Given the description of an element on the screen output the (x, y) to click on. 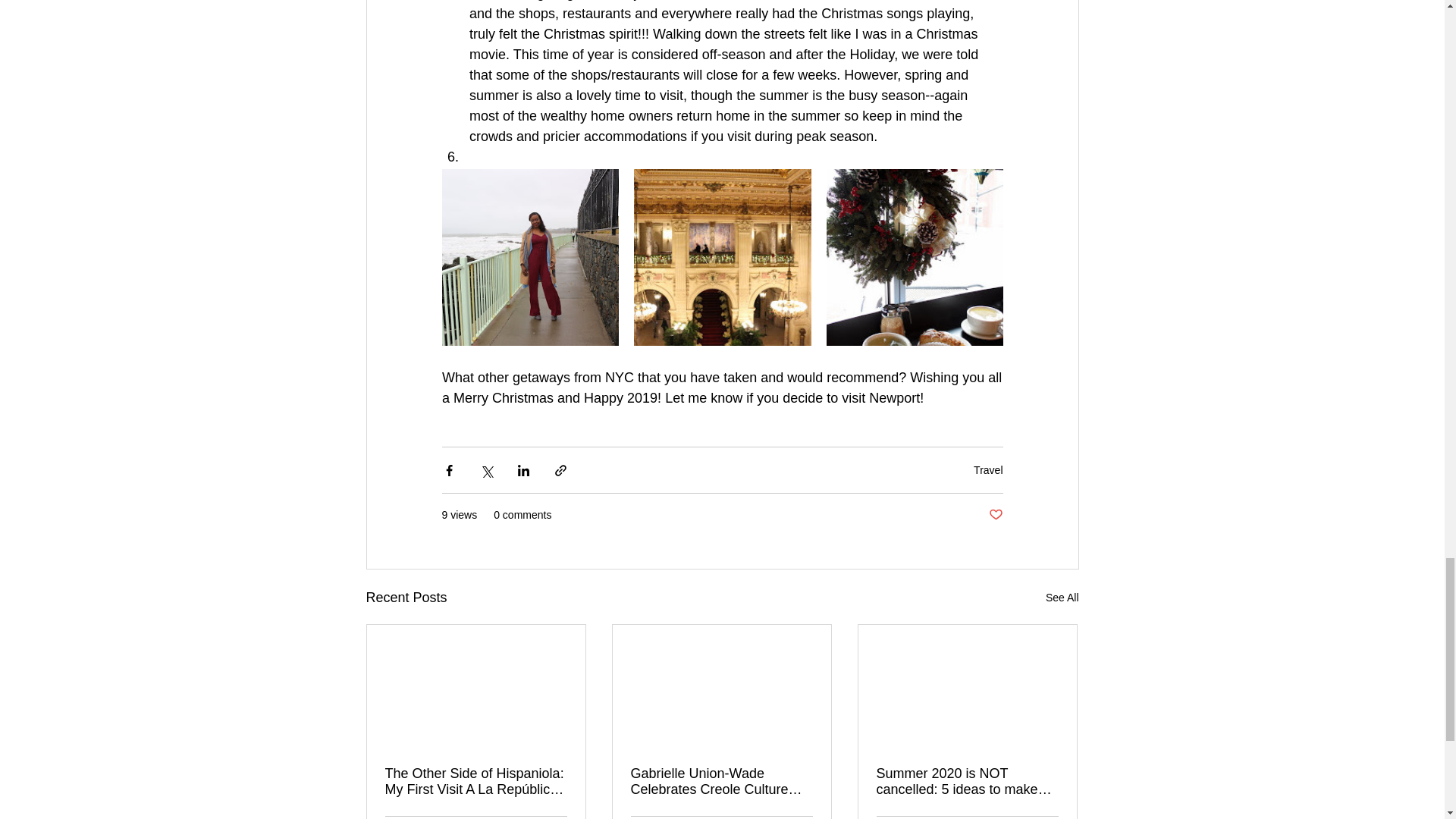
See All (1061, 598)
Travel (988, 469)
Post not marked as liked (995, 514)
